Given the description of an element on the screen output the (x, y) to click on. 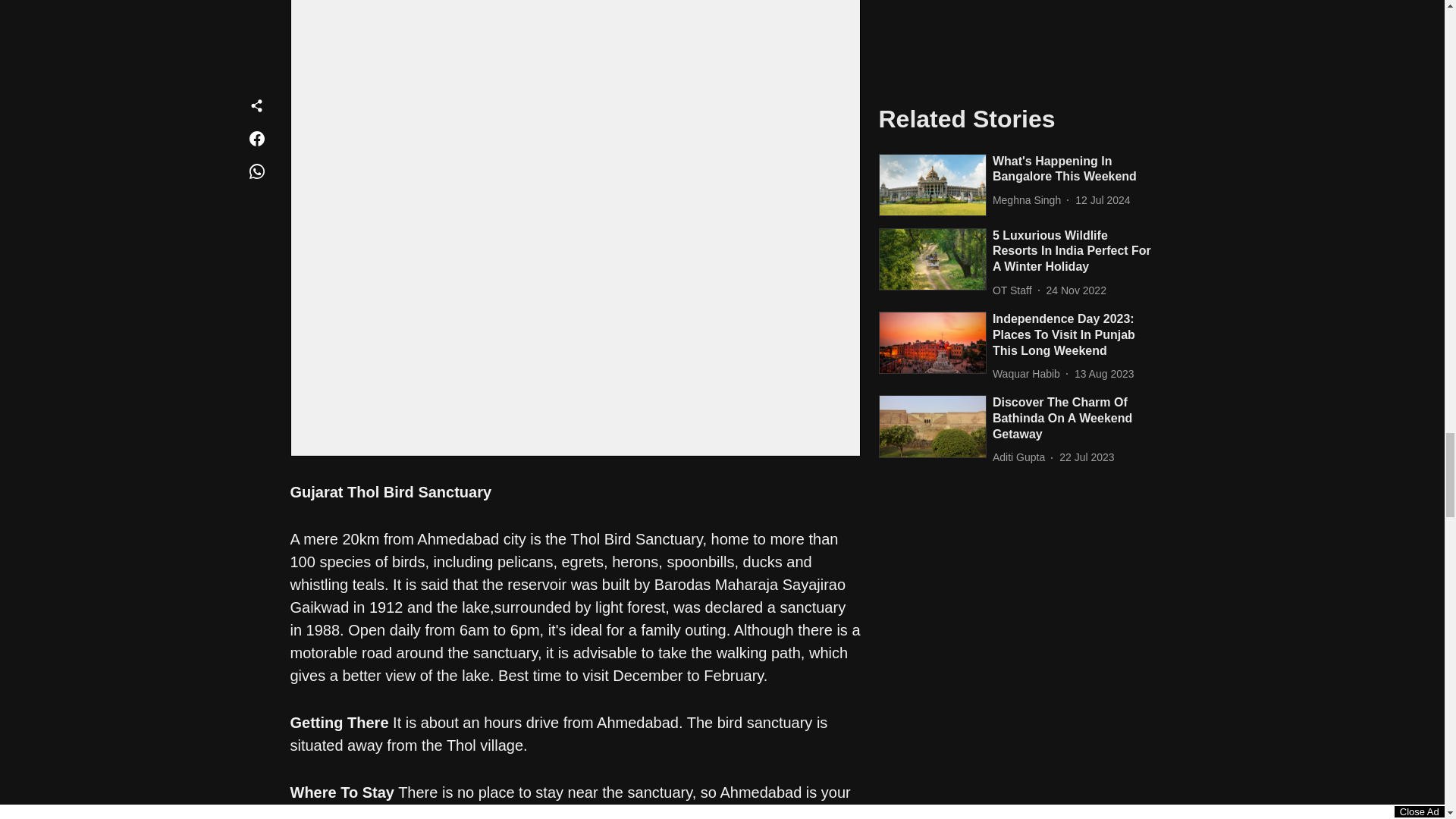
gujarattourism.com (412, 812)
